Given the description of an element on the screen output the (x, y) to click on. 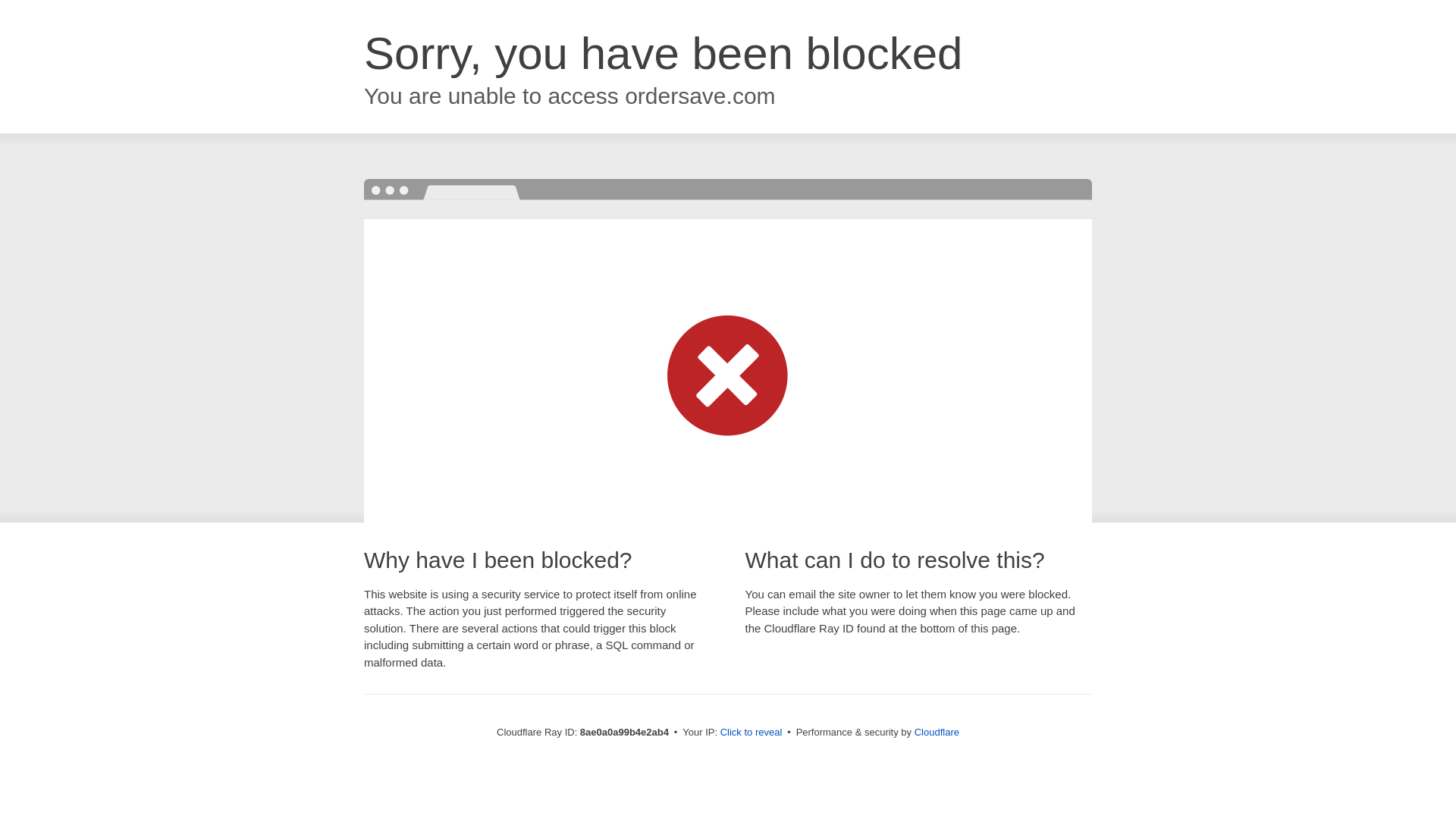
Click to reveal (751, 732)
Cloudflare (936, 731)
